Given the description of an element on the screen output the (x, y) to click on. 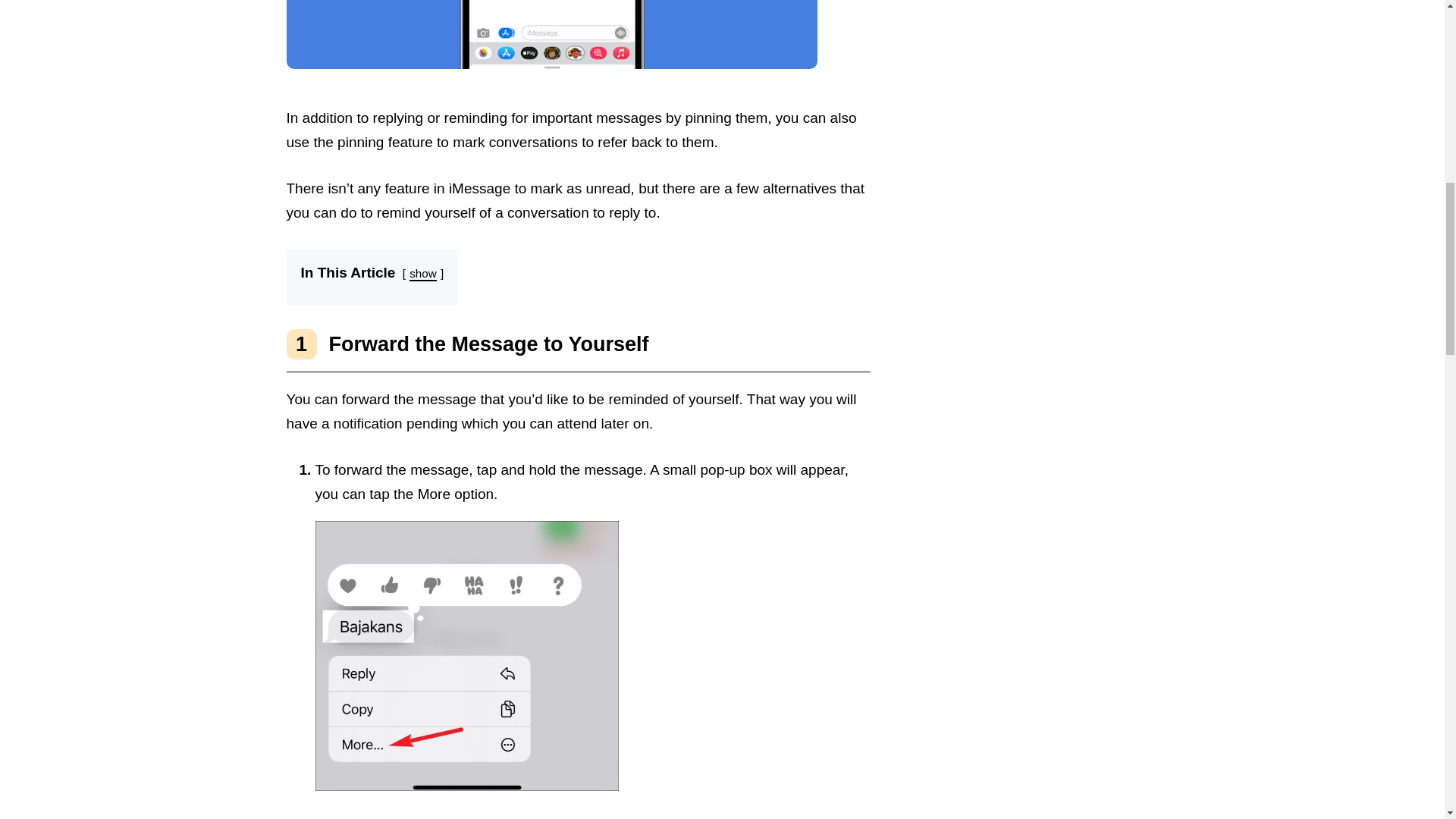
show (422, 273)
Mark iMessage Unread - How to Mark iMessage as Unread? (551, 34)
